Given the description of an element on the screen output the (x, y) to click on. 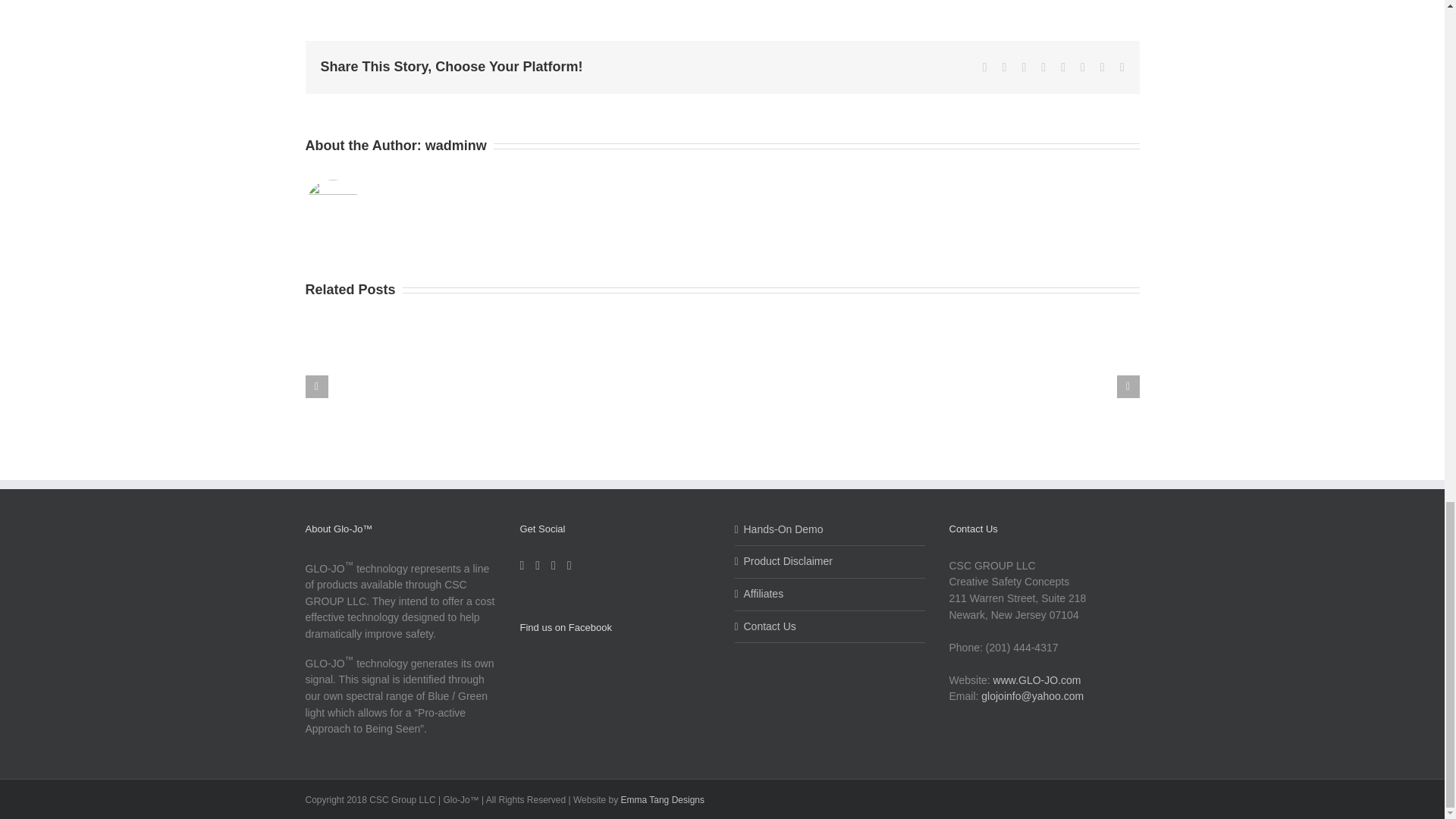
Posts by wadminw (455, 145)
